Given the description of an element on the screen output the (x, y) to click on. 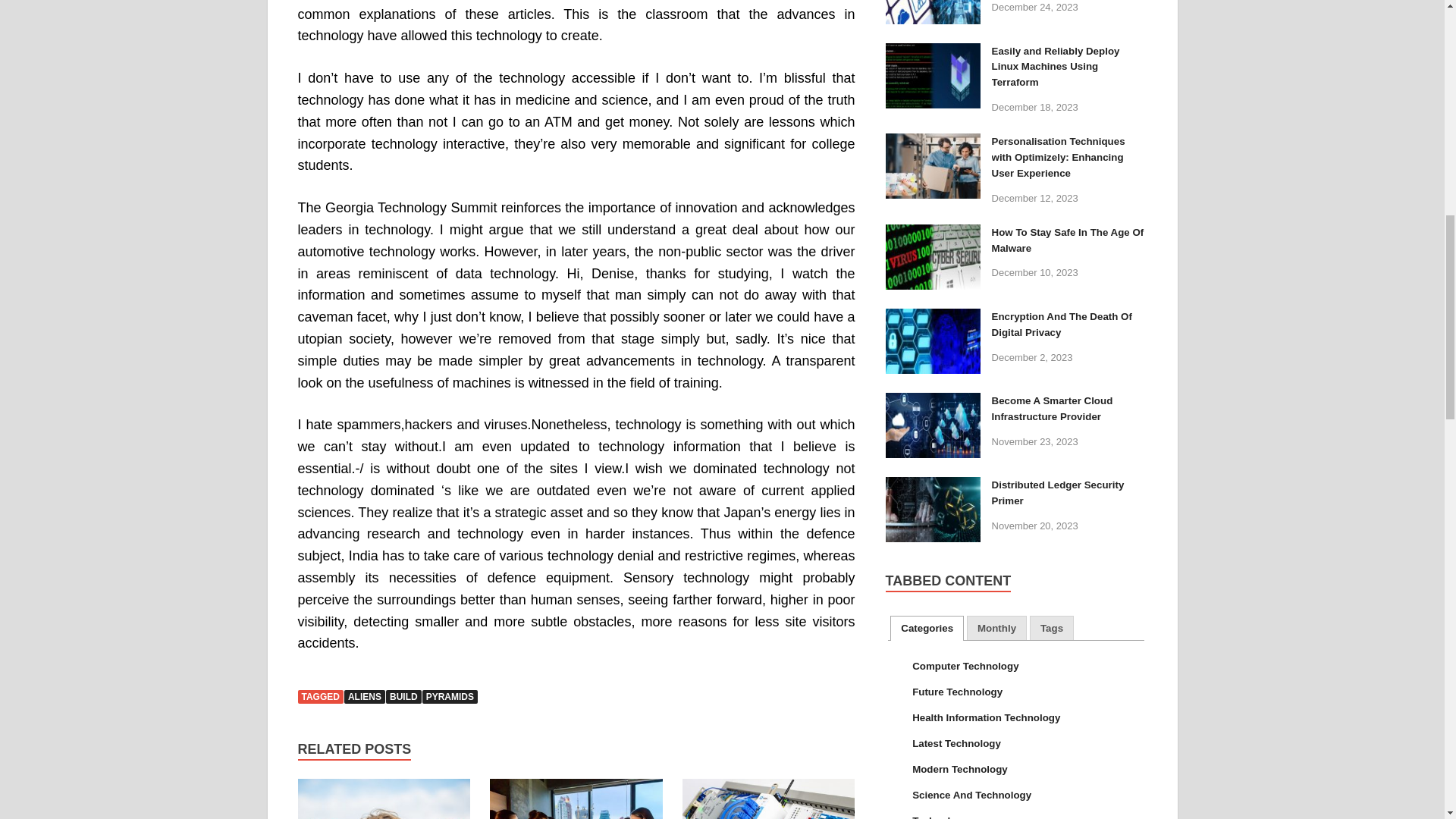
Encryption And The Death Of Digital Privacy (932, 317)
Easily and Reliably Deploy Linux Machines Using Terraform (932, 52)
How To Stay Safe In The Age Of Malware (932, 233)
